Given the description of an element on the screen output the (x, y) to click on. 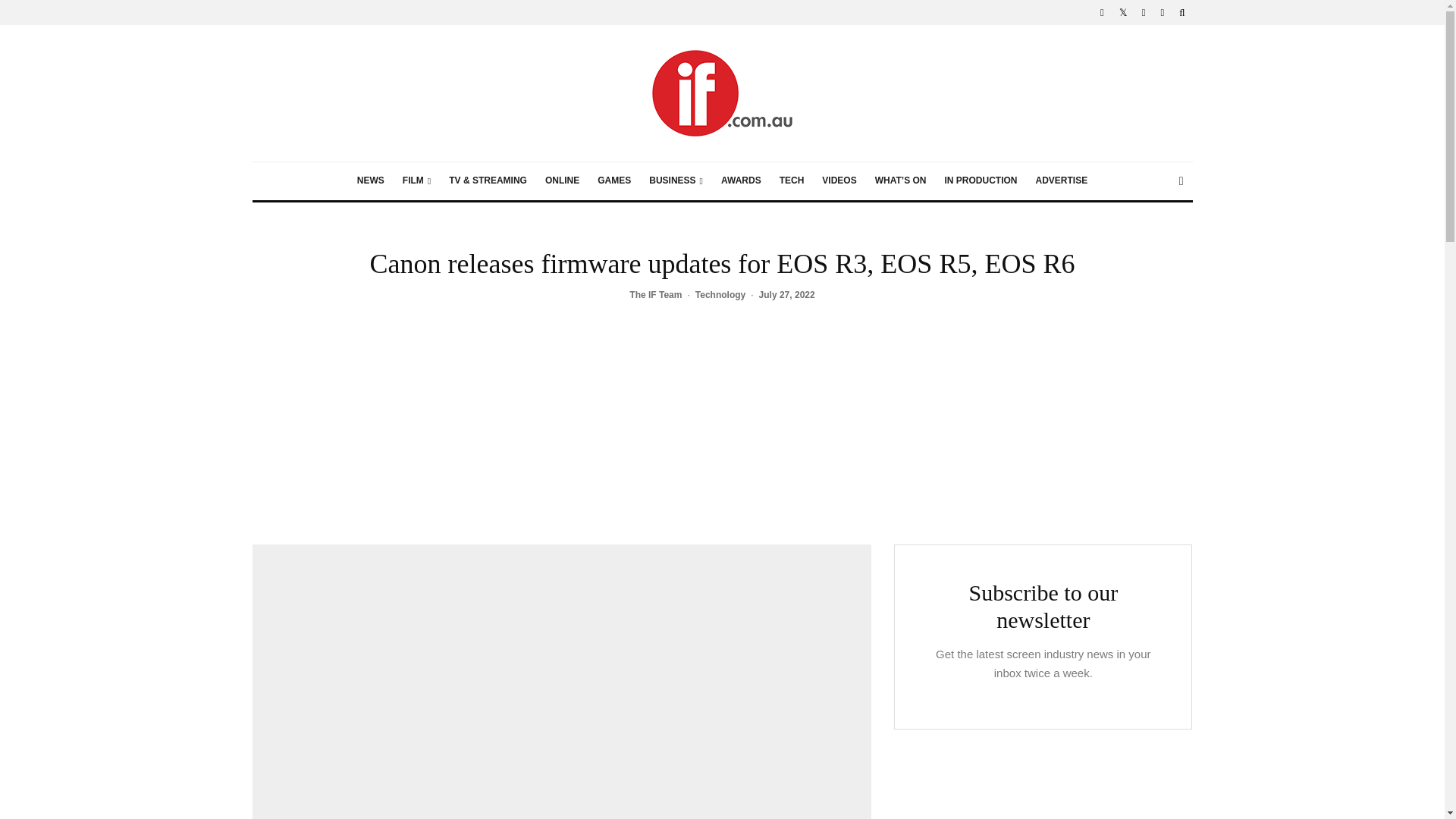
VIDEOS (838, 180)
IN PRODUCTION (980, 180)
NEWS (370, 180)
The IF Team (654, 294)
GAMES (614, 180)
Posts by The IF Team (654, 294)
TECH (791, 180)
AWARDS (740, 180)
ADVERTISE (1061, 180)
Technology (720, 295)
ONLINE (561, 180)
BUSINESS (675, 180)
FILM (416, 180)
